Given the description of an element on the screen output the (x, y) to click on. 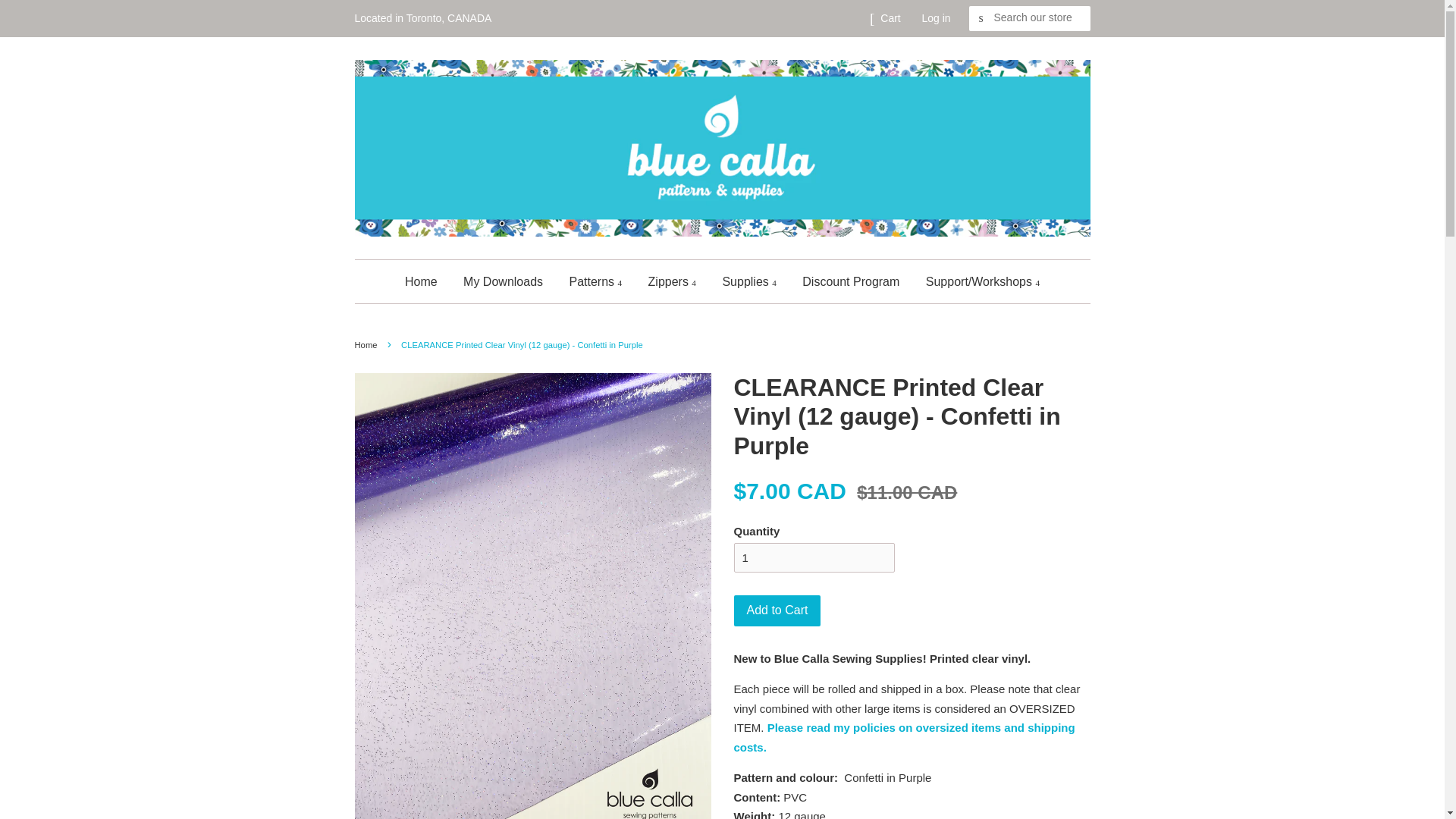
Search (980, 18)
Oversized items and shipping costs (904, 737)
Cart (889, 18)
1 (814, 557)
Log in (935, 18)
Back to the frontpage (368, 344)
